Given the description of an element on the screen output the (x, y) to click on. 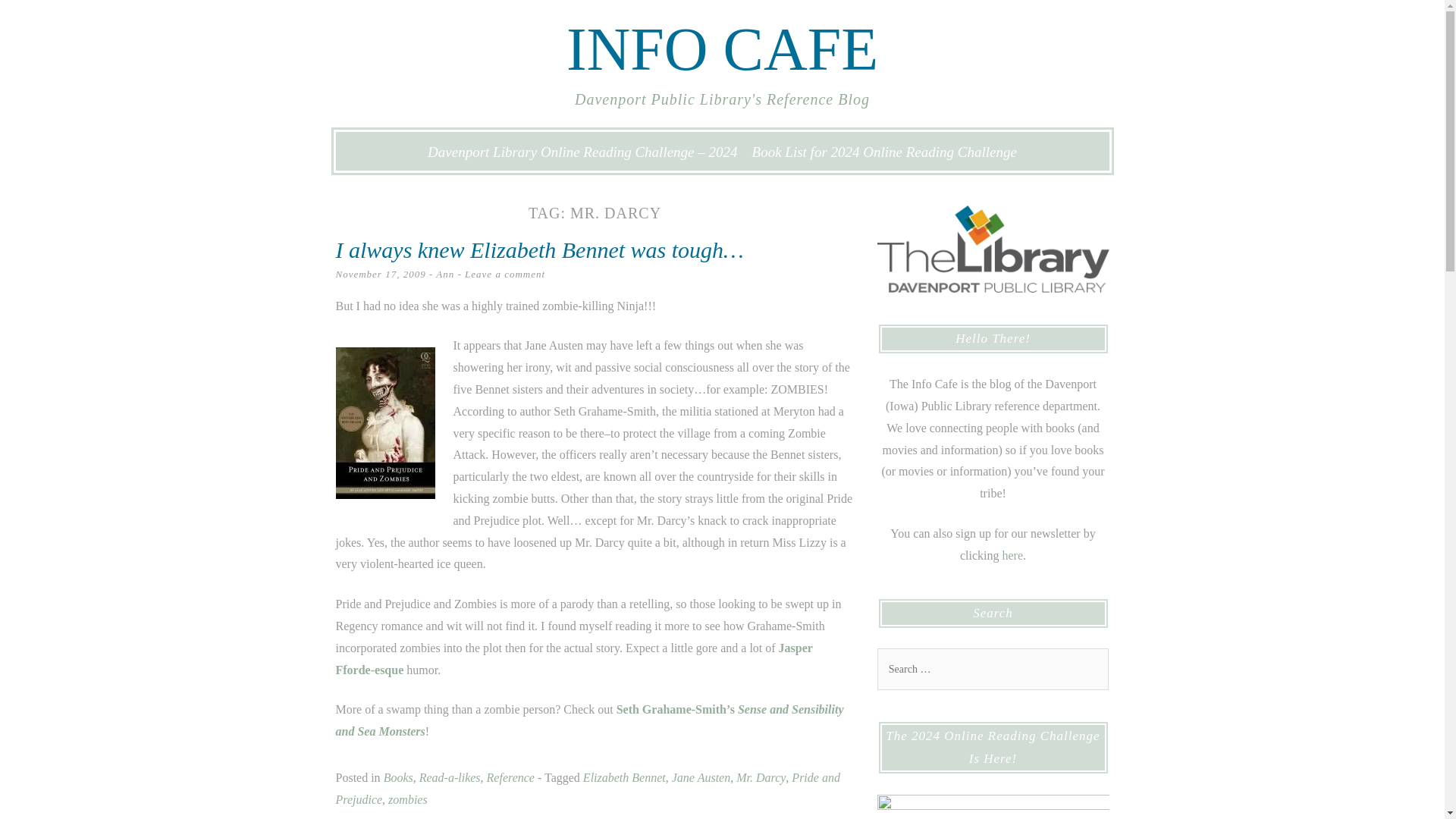
Mr. Darcy (761, 777)
Reference (510, 777)
Jasper Fforde-esque (573, 658)
zombies (408, 799)
Leave a comment (504, 274)
INFO CAFE (721, 48)
Ann (444, 274)
November 17, 2009 (379, 274)
Books (398, 777)
Book List for 2024 Online Reading Challenge (884, 151)
Jane Austen (700, 777)
The 2020 Online Reading Challenge is Here! (992, 806)
Pride and Prejudice (587, 788)
Elizabeth Bennet (624, 777)
